Given the description of an element on the screen output the (x, y) to click on. 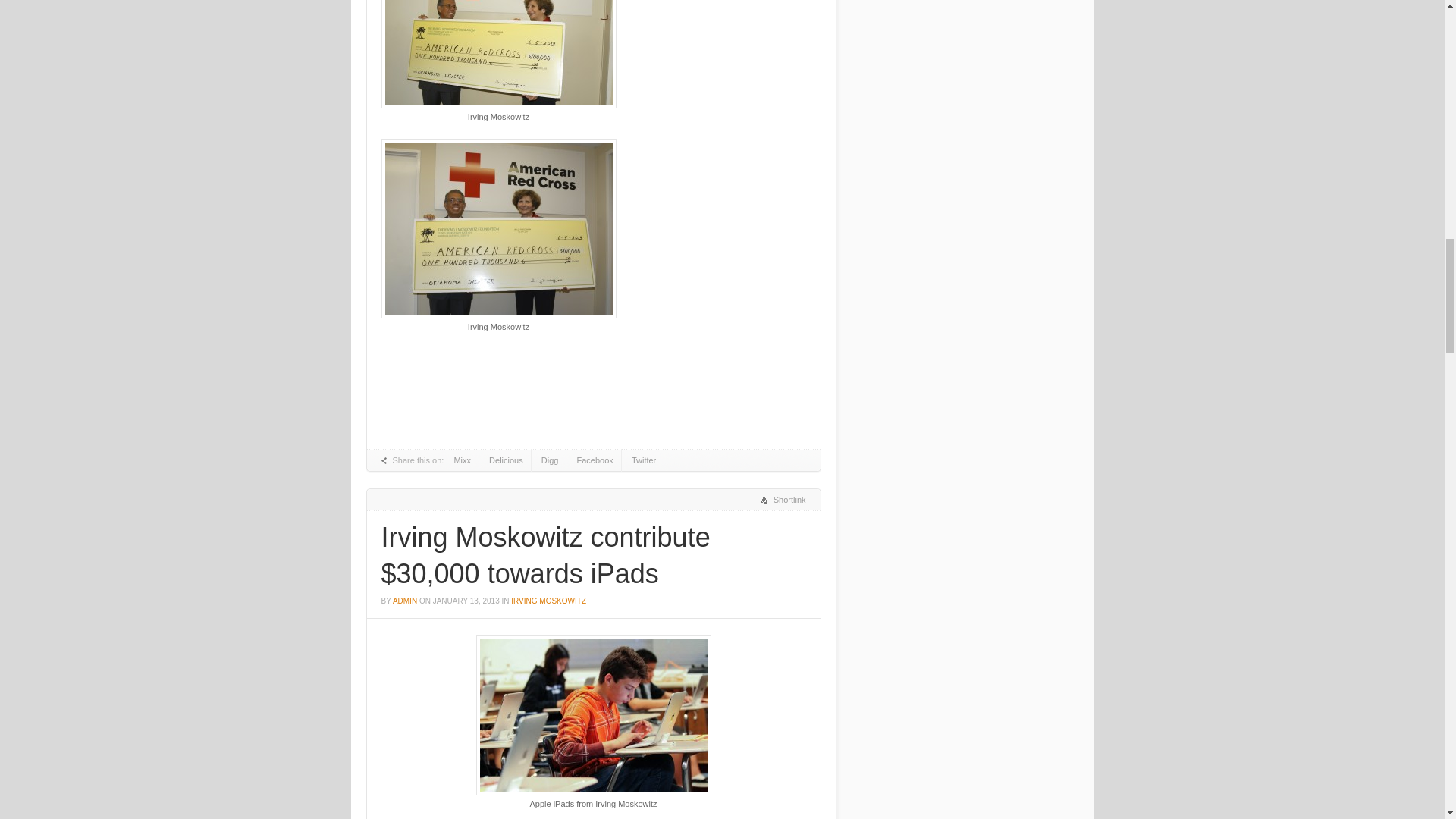
Delicious (506, 459)
Shortlink (783, 499)
ADMIN (404, 601)
Mixx (462, 459)
Digg (550, 459)
IRVING MOSKOWITZ (548, 601)
Twitter (643, 459)
Facebook (595, 459)
